Given the description of an element on the screen output the (x, y) to click on. 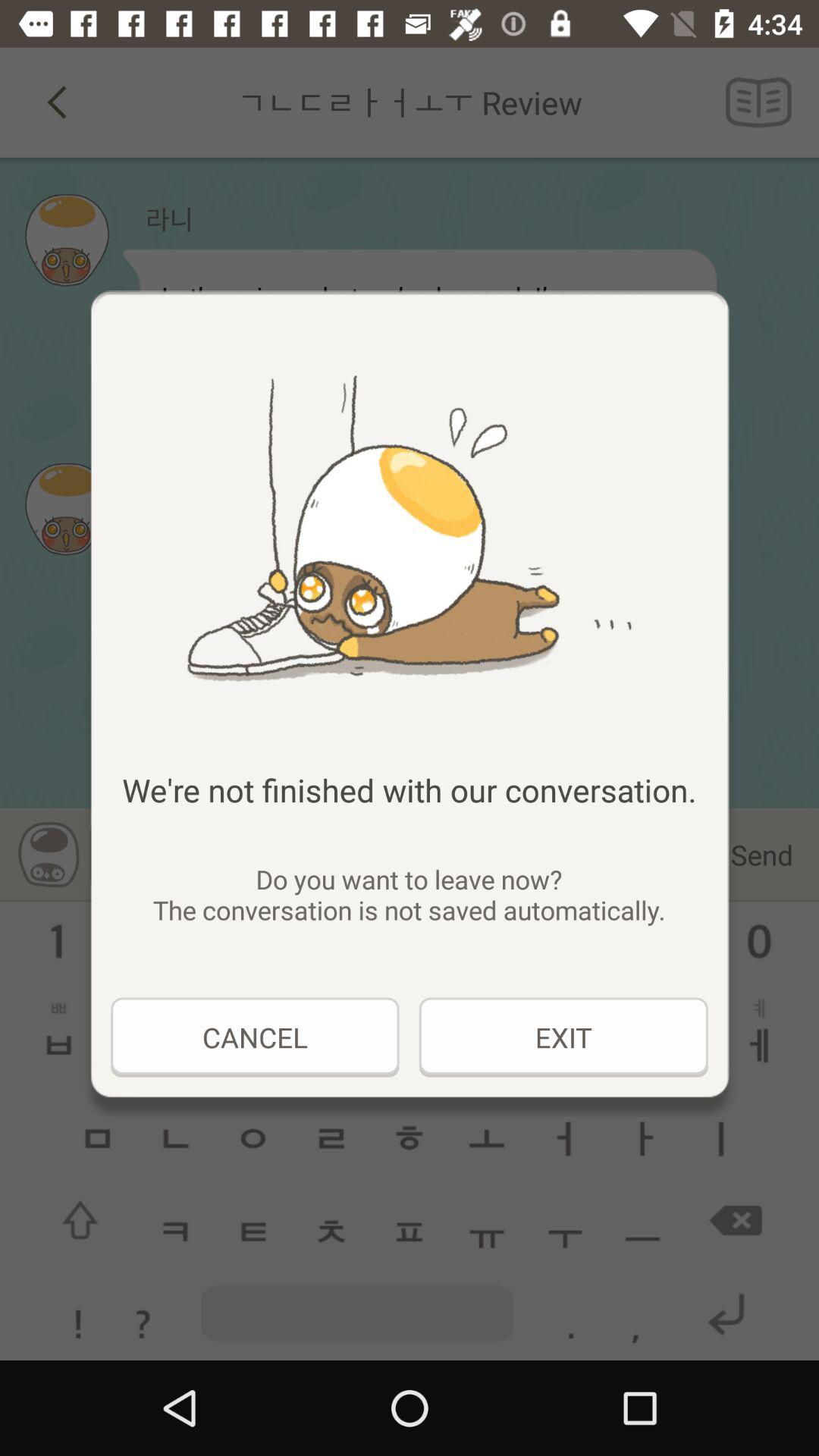
choose cancel at the bottom left corner (254, 1037)
